Given the description of an element on the screen output the (x, y) to click on. 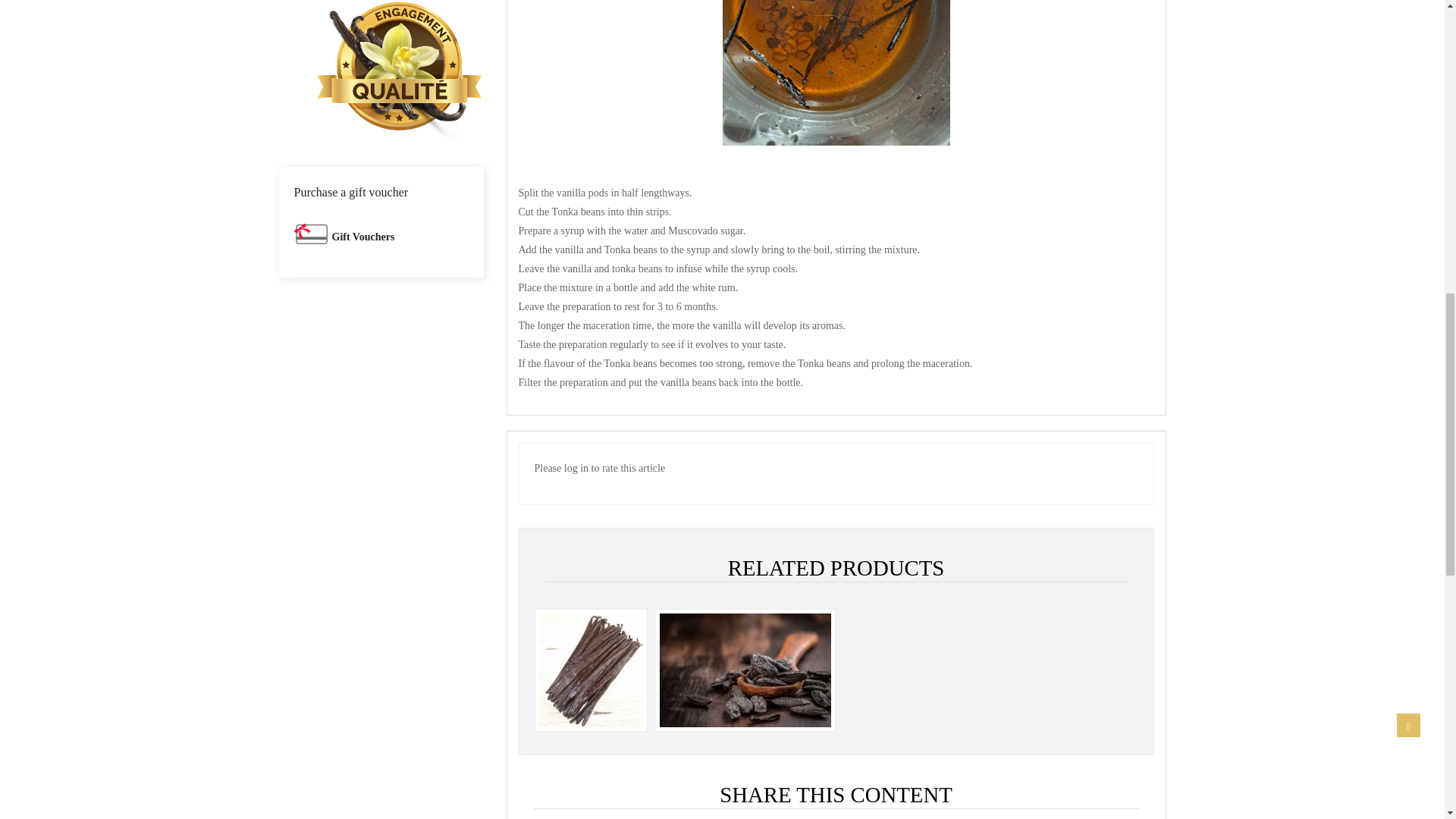
Purchase a gift voucher (362, 236)
Left Banner 1 (381, 64)
